Given the description of an element on the screen output the (x, y) to click on. 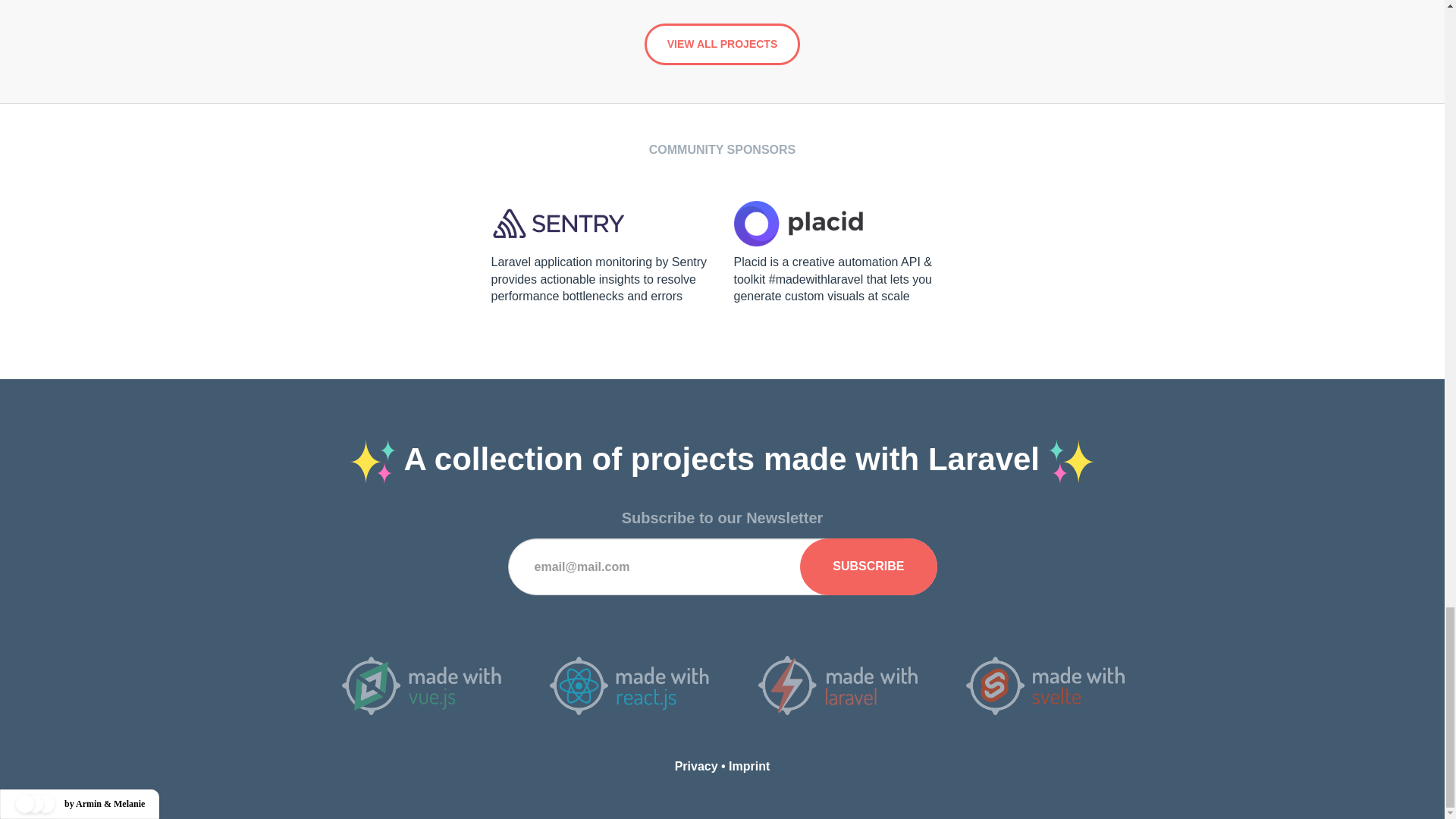
VIEW ALL PROJECTS (722, 44)
icon-sparkles-right Created with Sketch. (1071, 461)
Subscribe (867, 566)
Subscribe (867, 566)
icon-sparkles-left Created with Sketch. (373, 461)
